Given the description of an element on the screen output the (x, y) to click on. 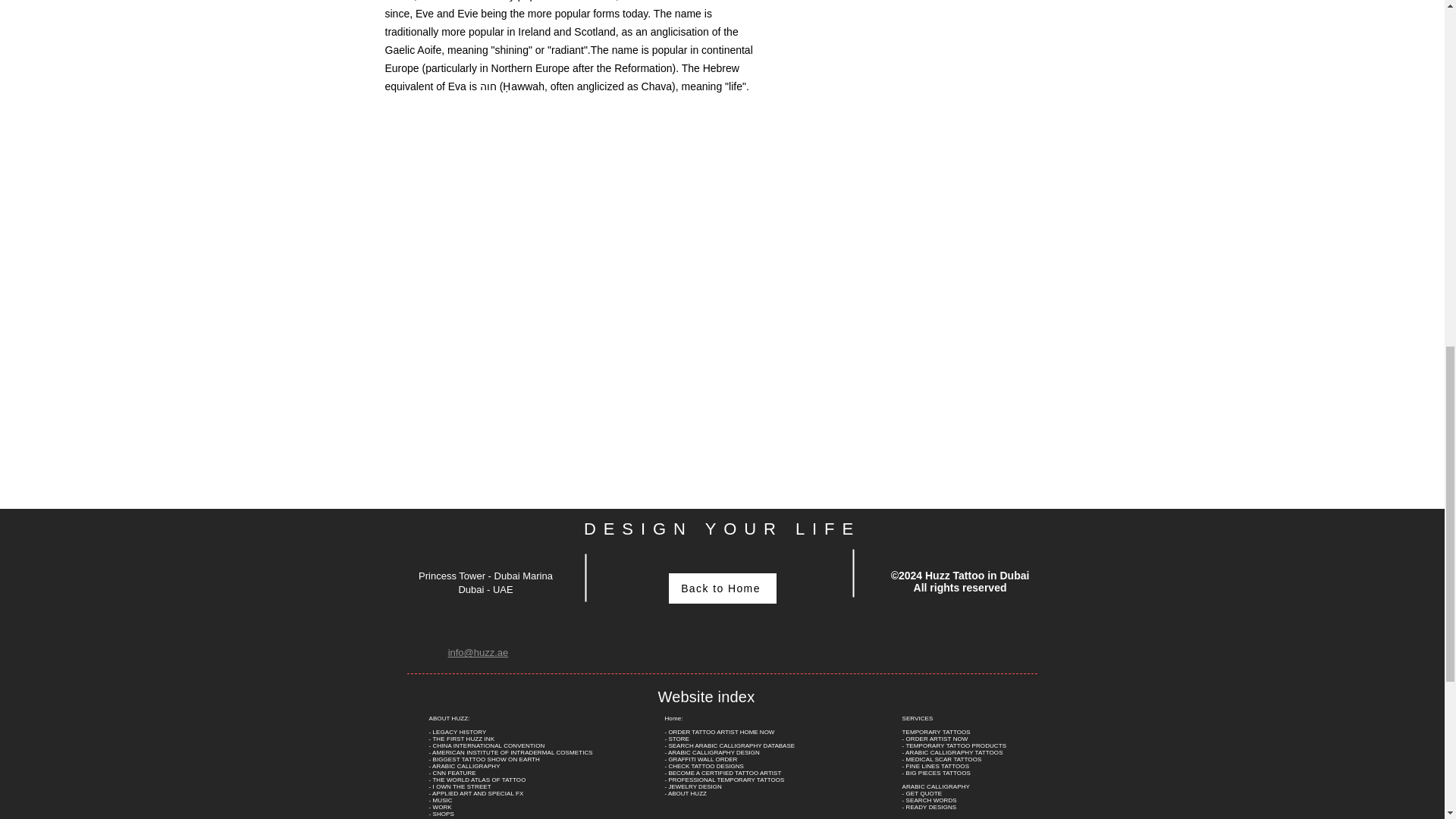
- AMR DIAB (446, 818)
- CHINA INTERNATIONAL CONVENTION (486, 745)
- CNN FEATURE (452, 772)
- THE FIRST HUZZ INK (462, 738)
- THE WORLD ATLAS OF TATTOO (477, 779)
- MUSIC (440, 799)
- APPLIED ART AND SPECIAL FX (476, 793)
Back to Home (722, 588)
- AMERICAN INSTITUTE OF INTRADERMAL COSMETICS (510, 752)
DESIGN YOUR LIFE (721, 528)
- LEGACY HISTORY (457, 731)
- WORK (440, 806)
- BIGGEST TATTOO SHOW ON EARTH (484, 758)
- I OWN THE STREET (460, 786)
- SHOPS (441, 813)
